Given the description of an element on the screen output the (x, y) to click on. 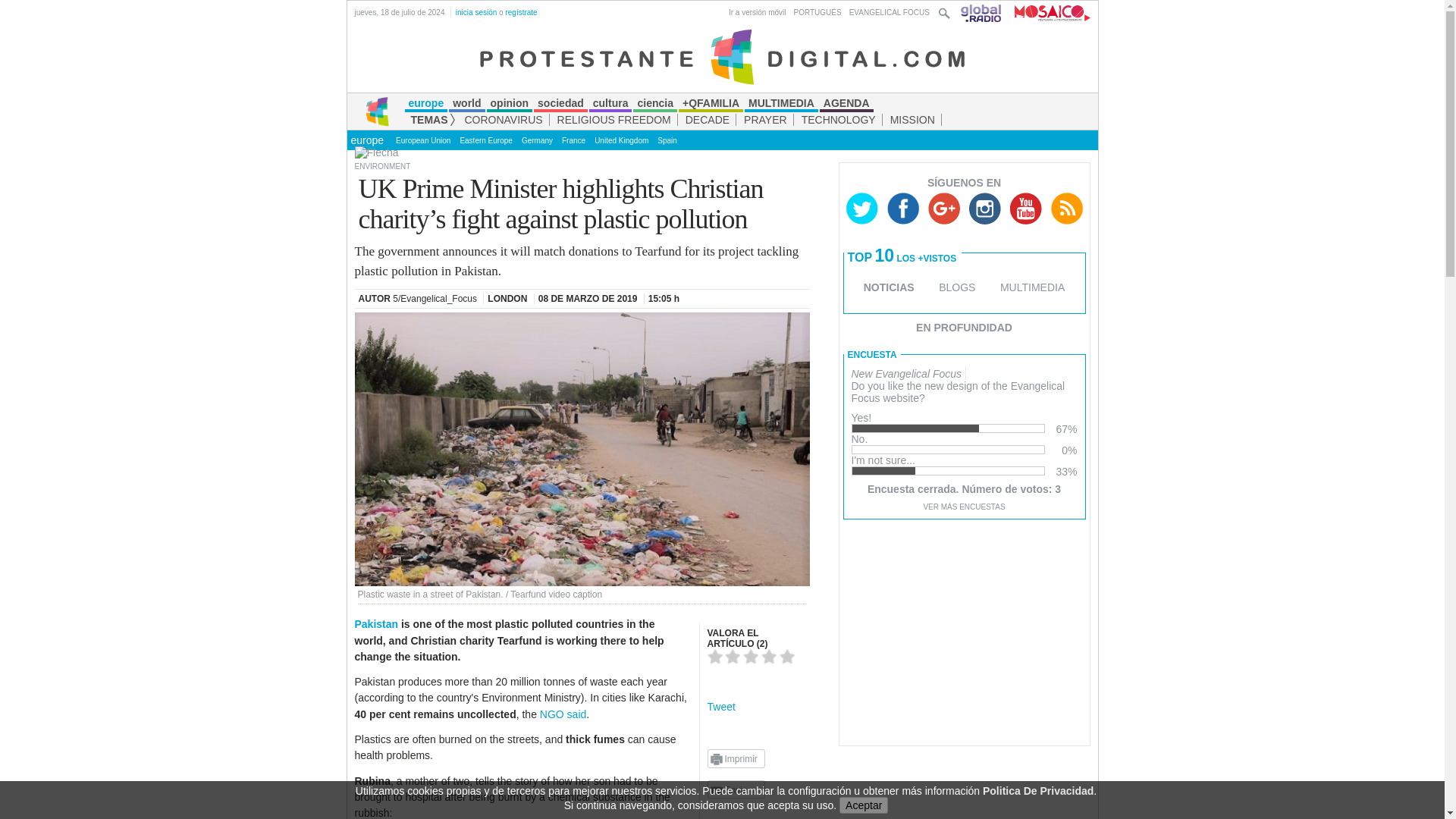
europe (367, 140)
